Given the description of an element on the screen output the (x, y) to click on. 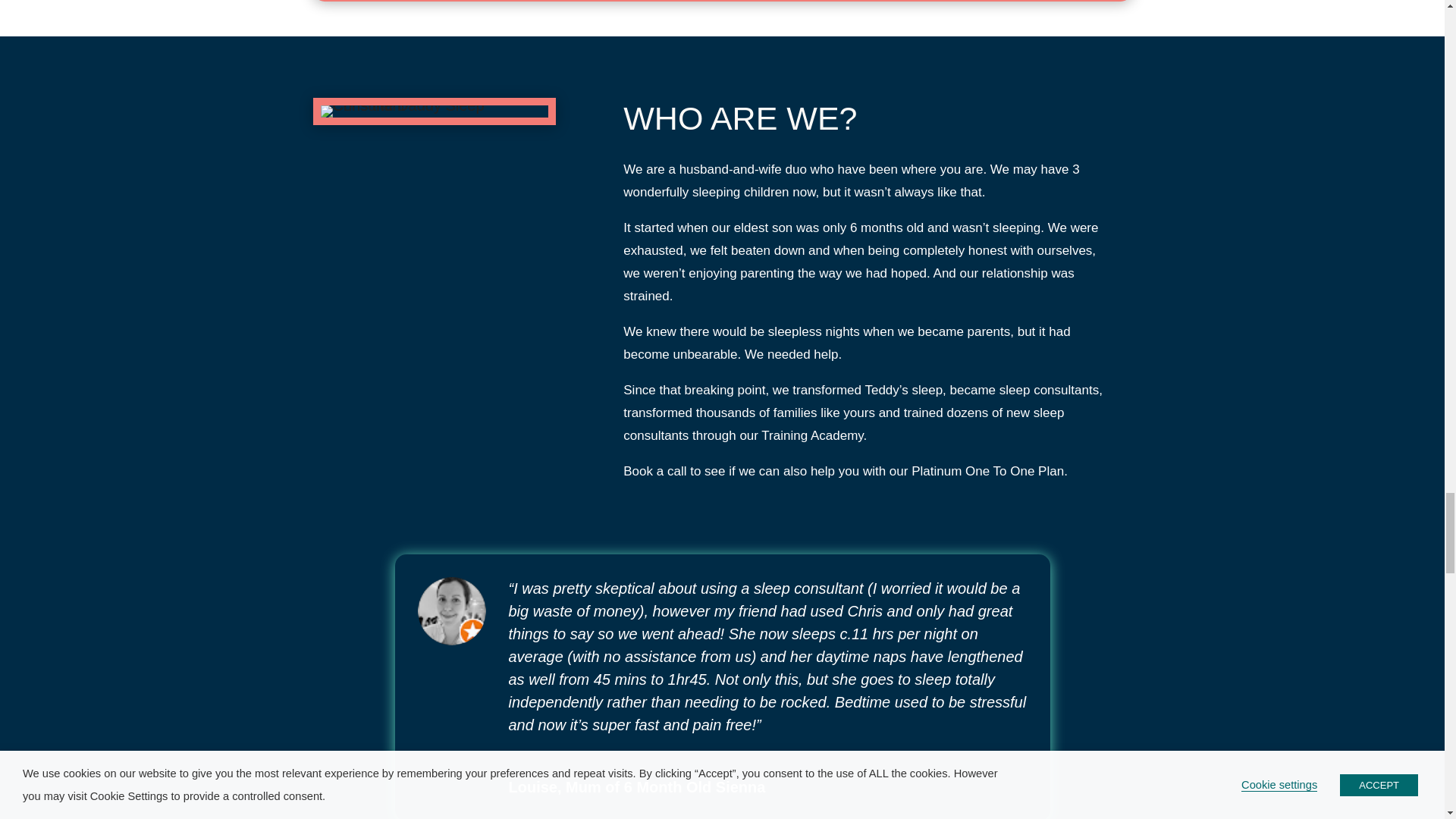
A55A9621 (433, 111)
